Given the description of an element on the screen output the (x, y) to click on. 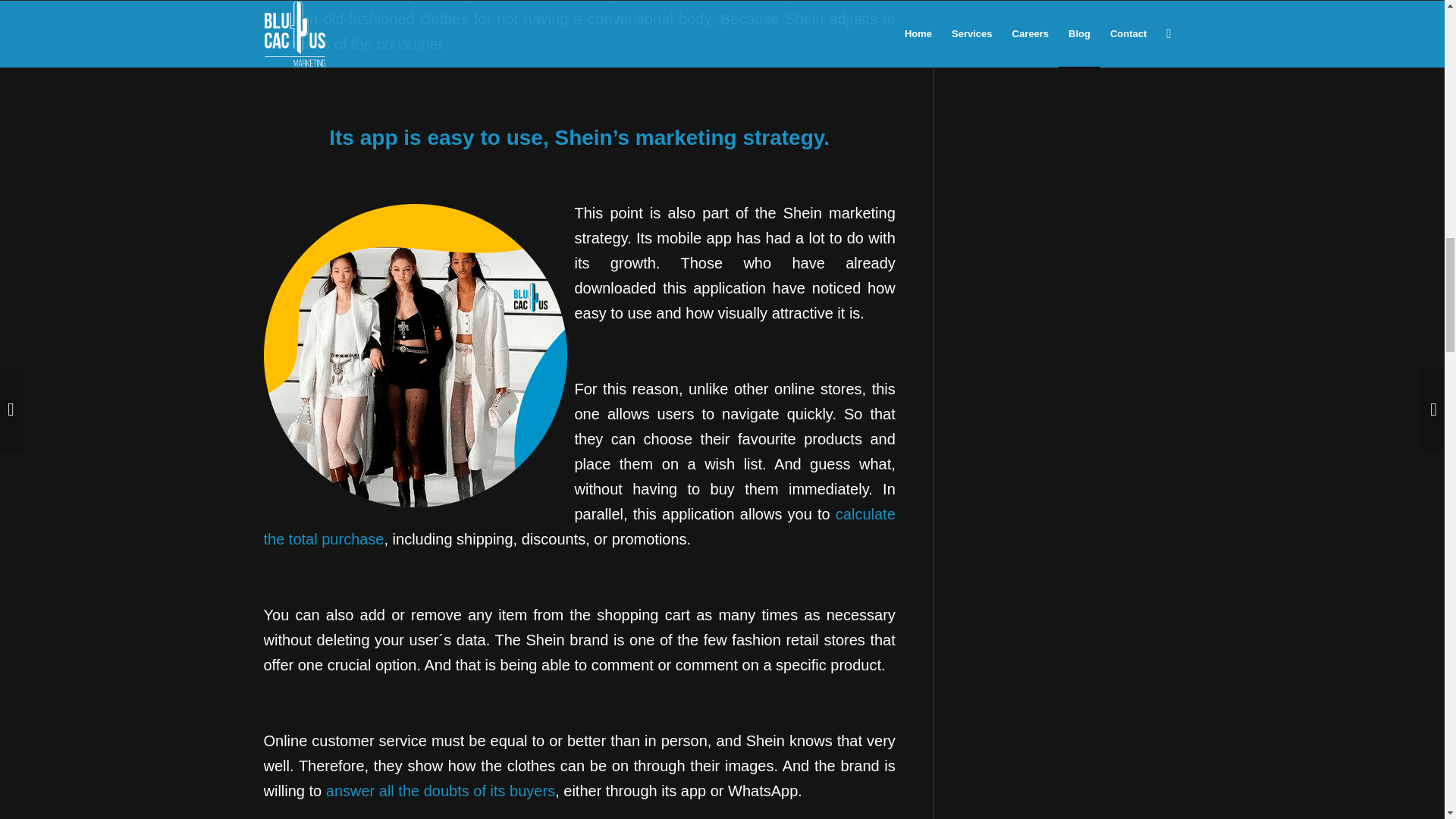
How to calculate total purchase cost (579, 526)
answer all the doubts of its buyers (440, 790)
calculate the total purchase (579, 526)
